Given the description of an element on the screen output the (x, y) to click on. 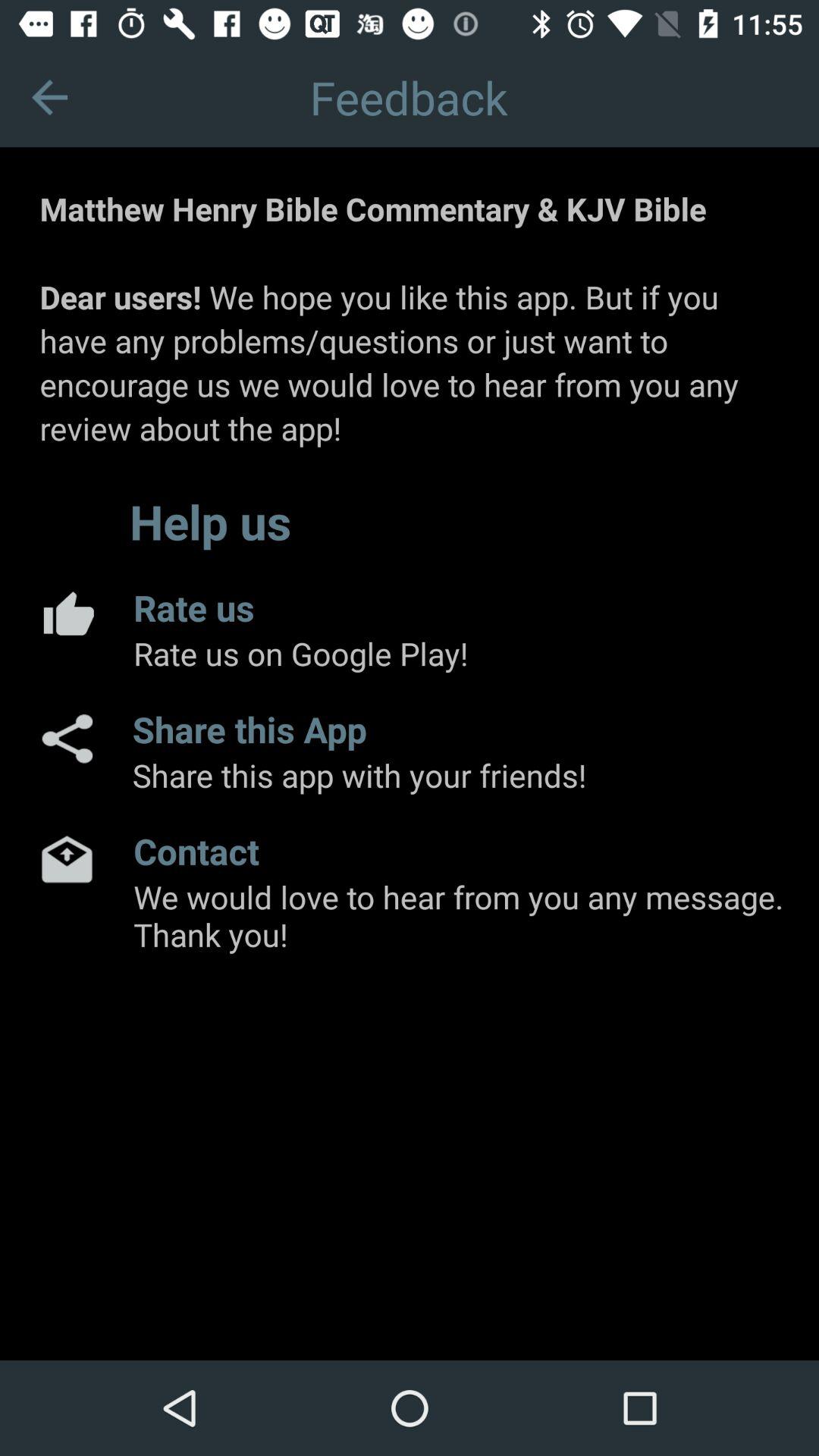
open icon to the left of feedback app (49, 97)
